Given the description of an element on the screen output the (x, y) to click on. 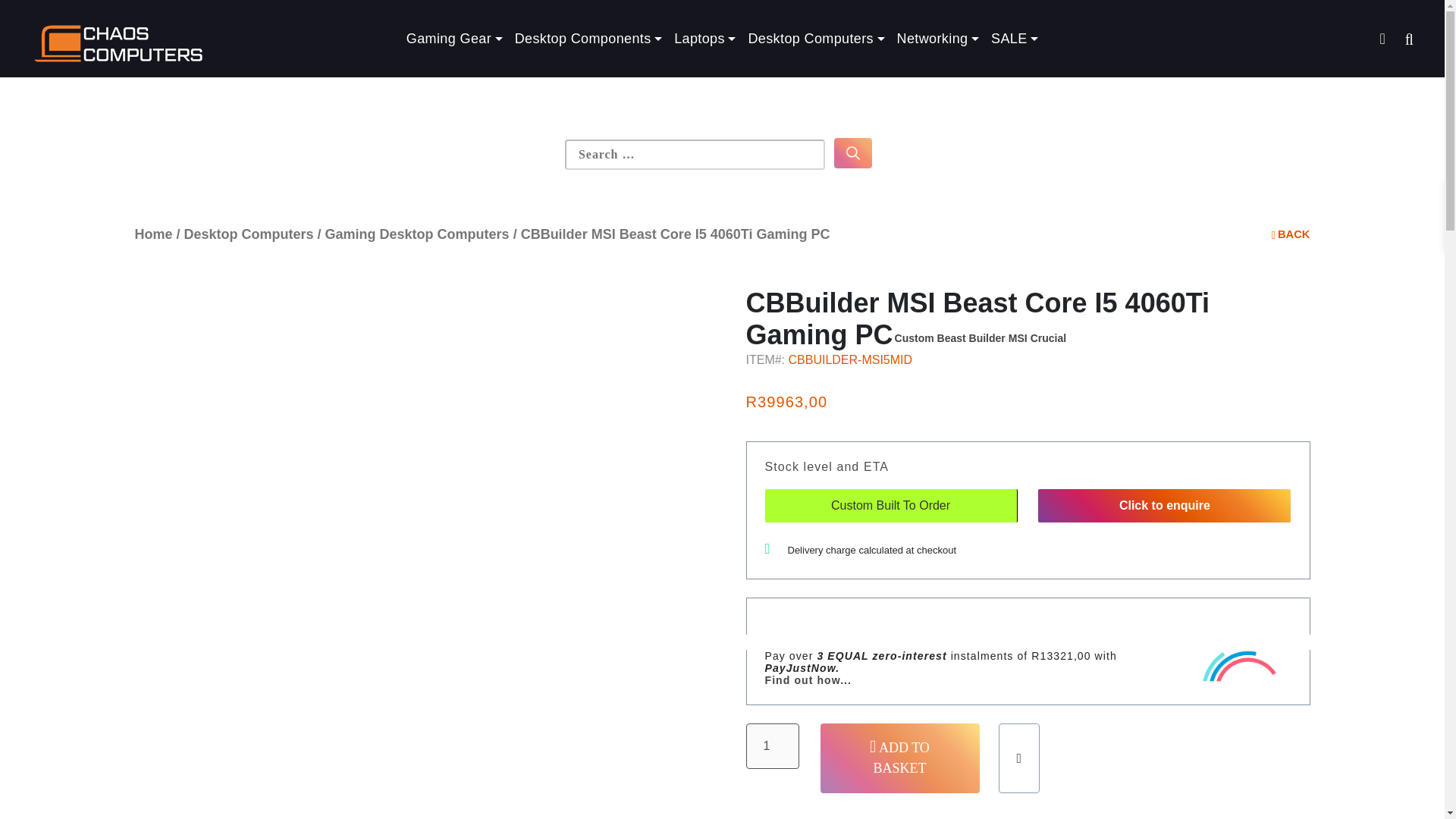
Desktop Computers (815, 38)
Desktop Components (588, 38)
Desktop Components (588, 38)
1 (772, 746)
Gaming Gear (454, 38)
Gaming Gear (454, 38)
Laptops (704, 38)
Networking (938, 38)
